Given the description of an element on the screen output the (x, y) to click on. 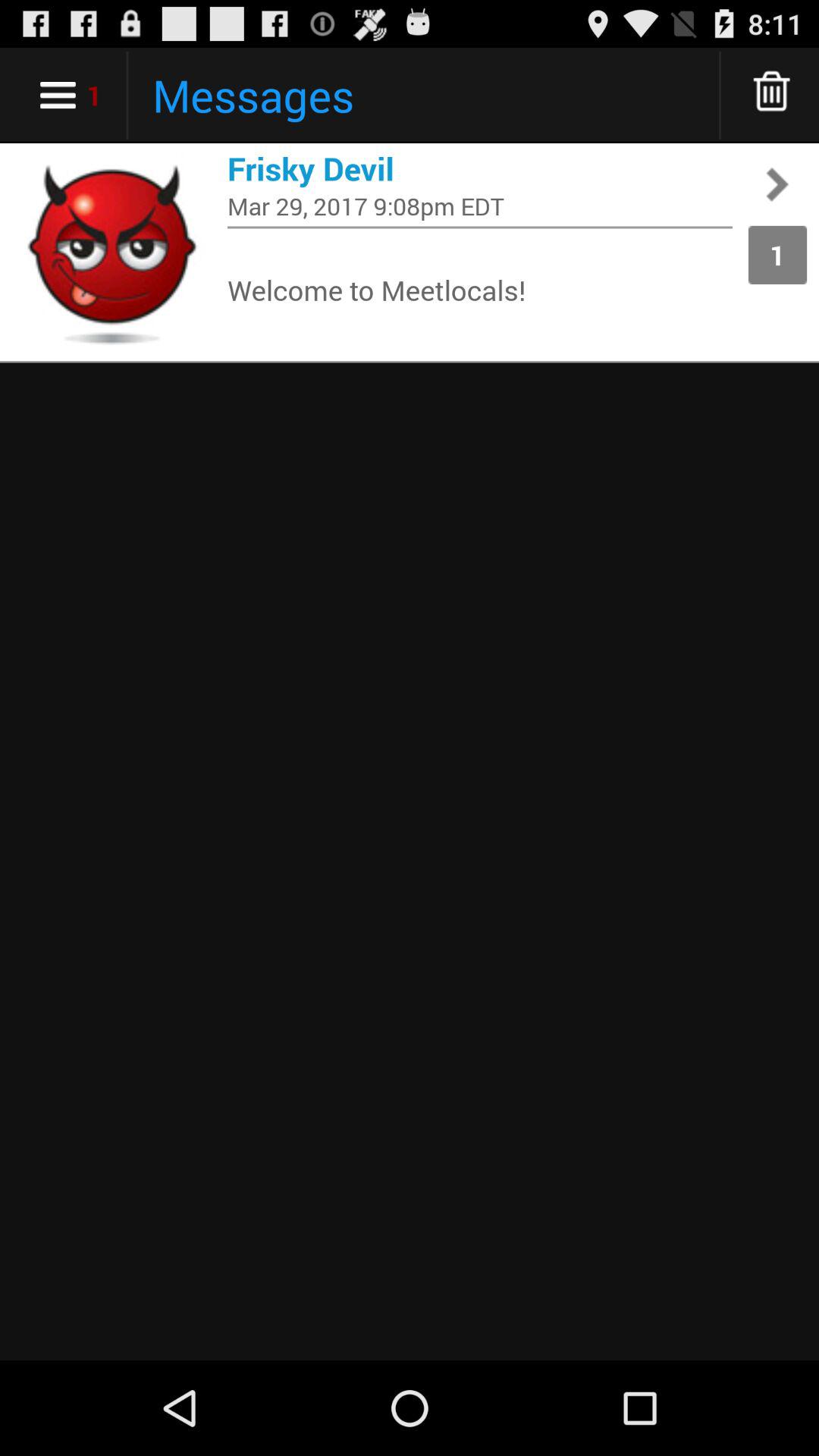
jump until the mar 29 2017 (479, 205)
